Given the description of an element on the screen output the (x, y) to click on. 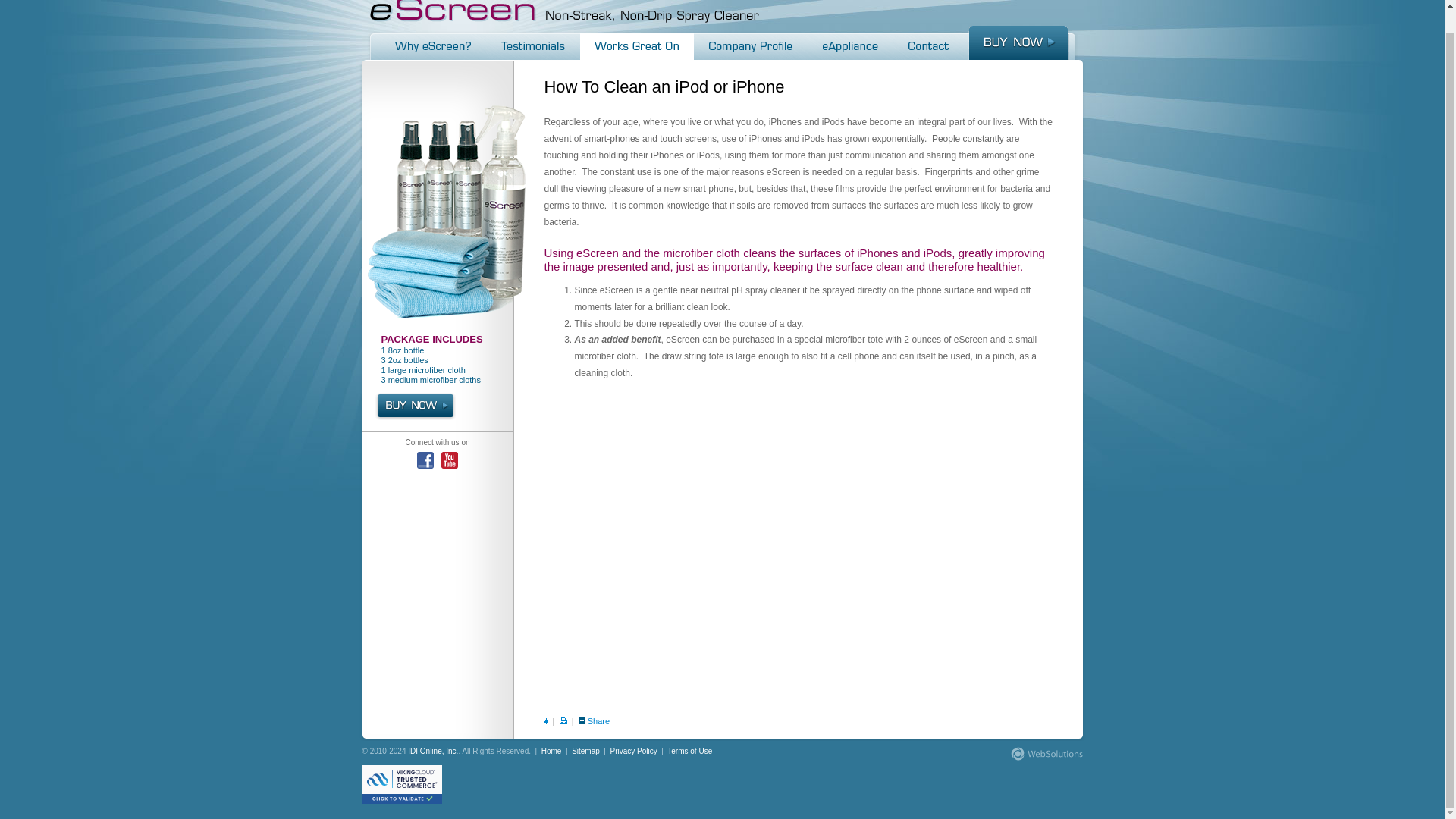
Home (551, 750)
Sitemap (585, 750)
Share (599, 720)
Terms of Use (688, 750)
Privacy Policy (634, 750)
IDI Online, Inc. (432, 750)
